Given the description of an element on the screen output the (x, y) to click on. 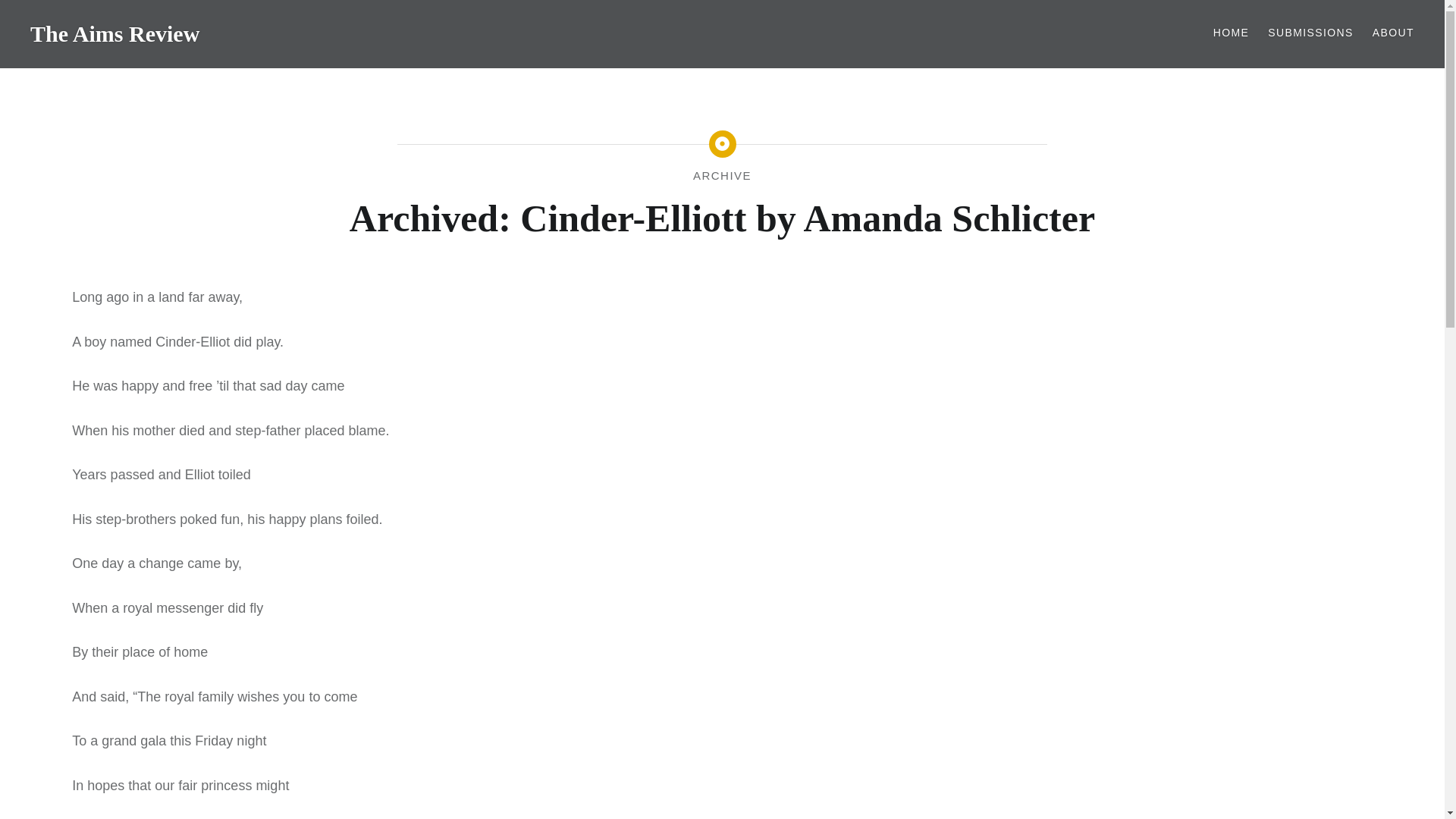
Search (578, 19)
ABOUT (1393, 32)
SUBMISSIONS (1311, 32)
The Aims Review (114, 33)
ARCHIVE (722, 174)
HOME (1230, 32)
